Given the description of an element on the screen output the (x, y) to click on. 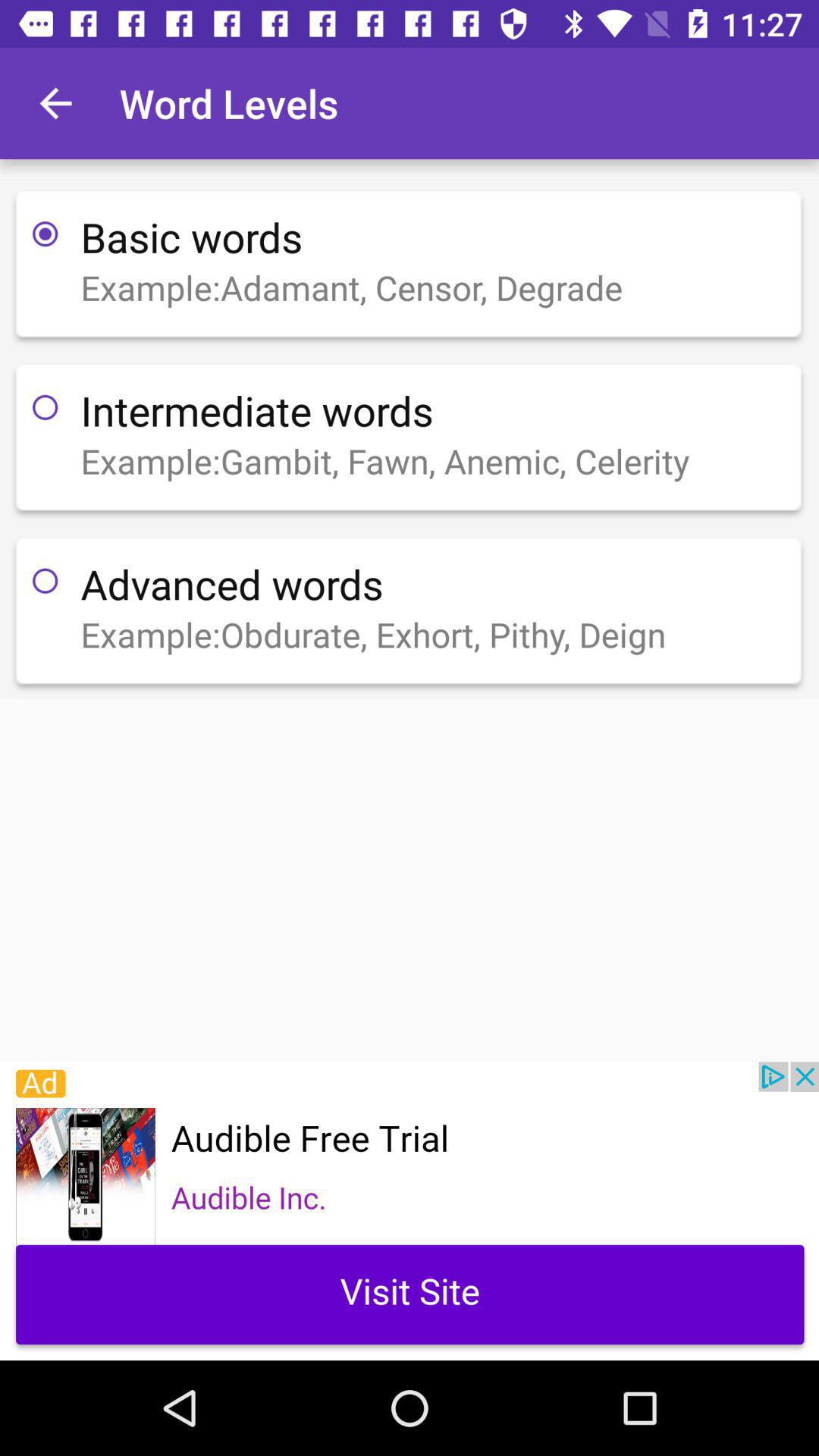
go to audible (409, 1210)
